Given the description of an element on the screen output the (x, y) to click on. 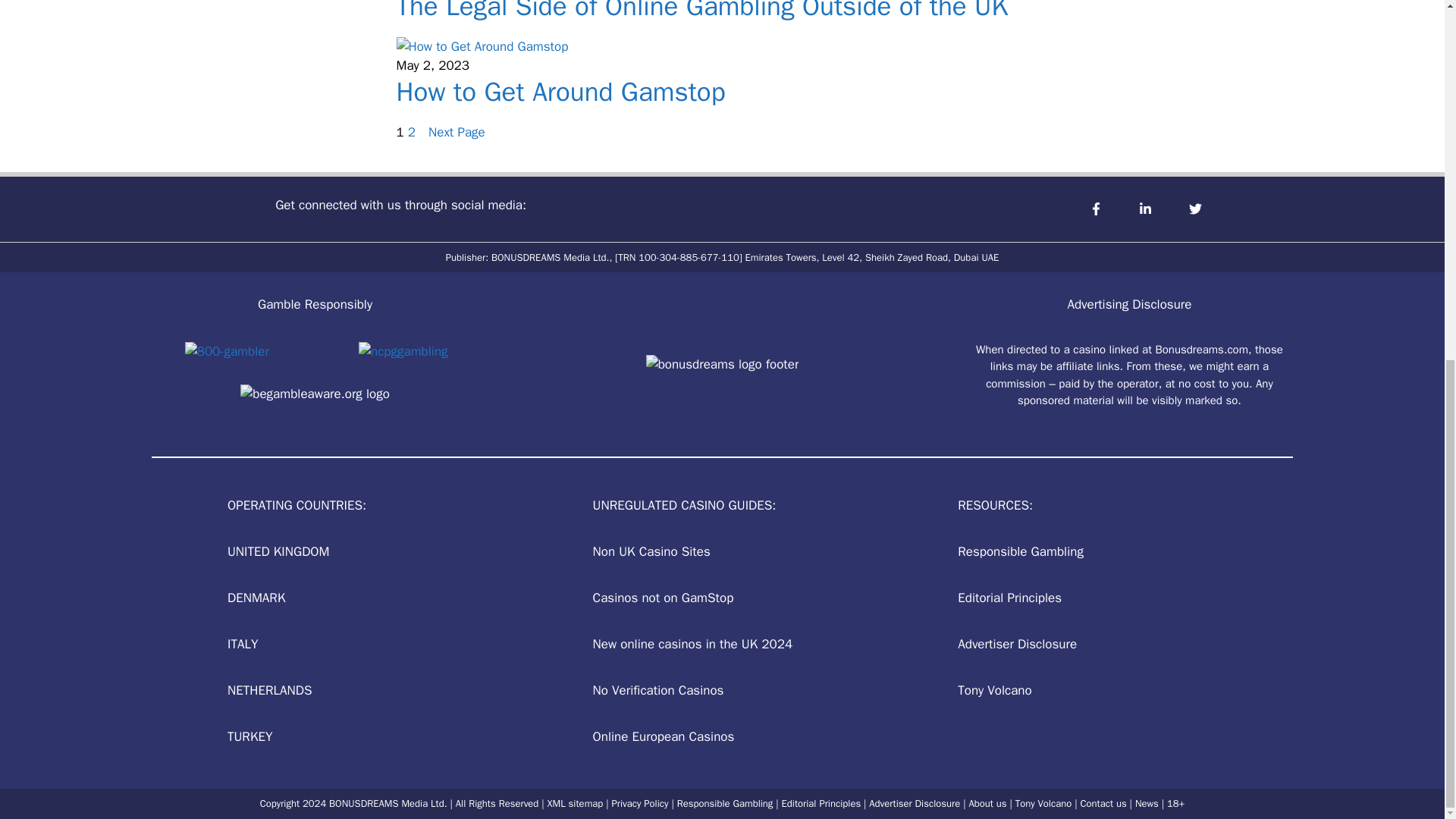
NETHERLANDS (269, 690)
TURKEY (249, 736)
DENMARK (256, 597)
Non UK Casino Sites (651, 551)
The Legal Side of Online Gambling Outside of the UK (701, 11)
UNITED KINGDOM (278, 551)
Next Page (456, 132)
ITALY (242, 643)
How to Get Around Gamstop (560, 91)
